Given the description of an element on the screen output the (x, y) to click on. 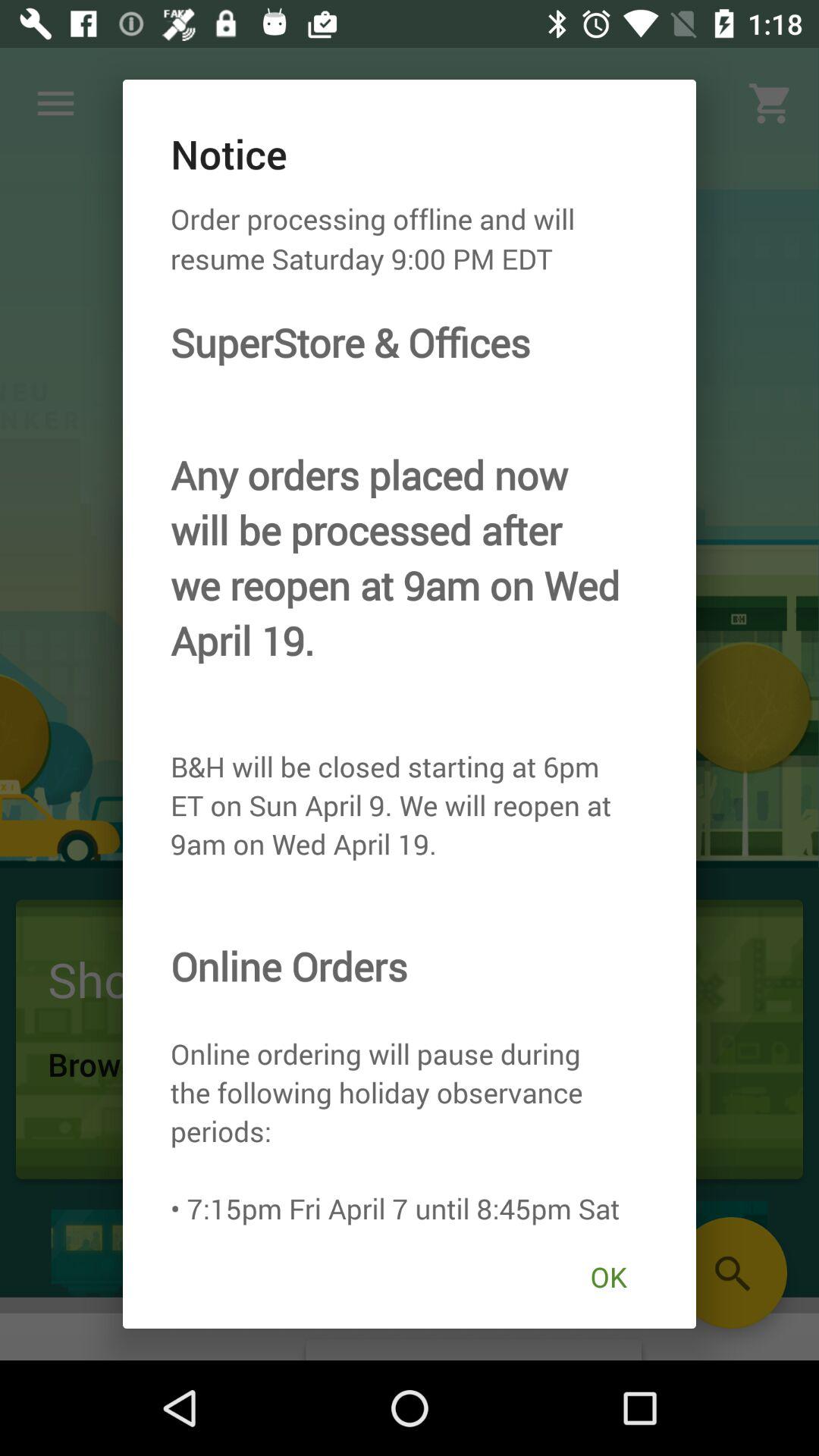
choose the icon below order processing offline (608, 1276)
